Given the description of an element on the screen output the (x, y) to click on. 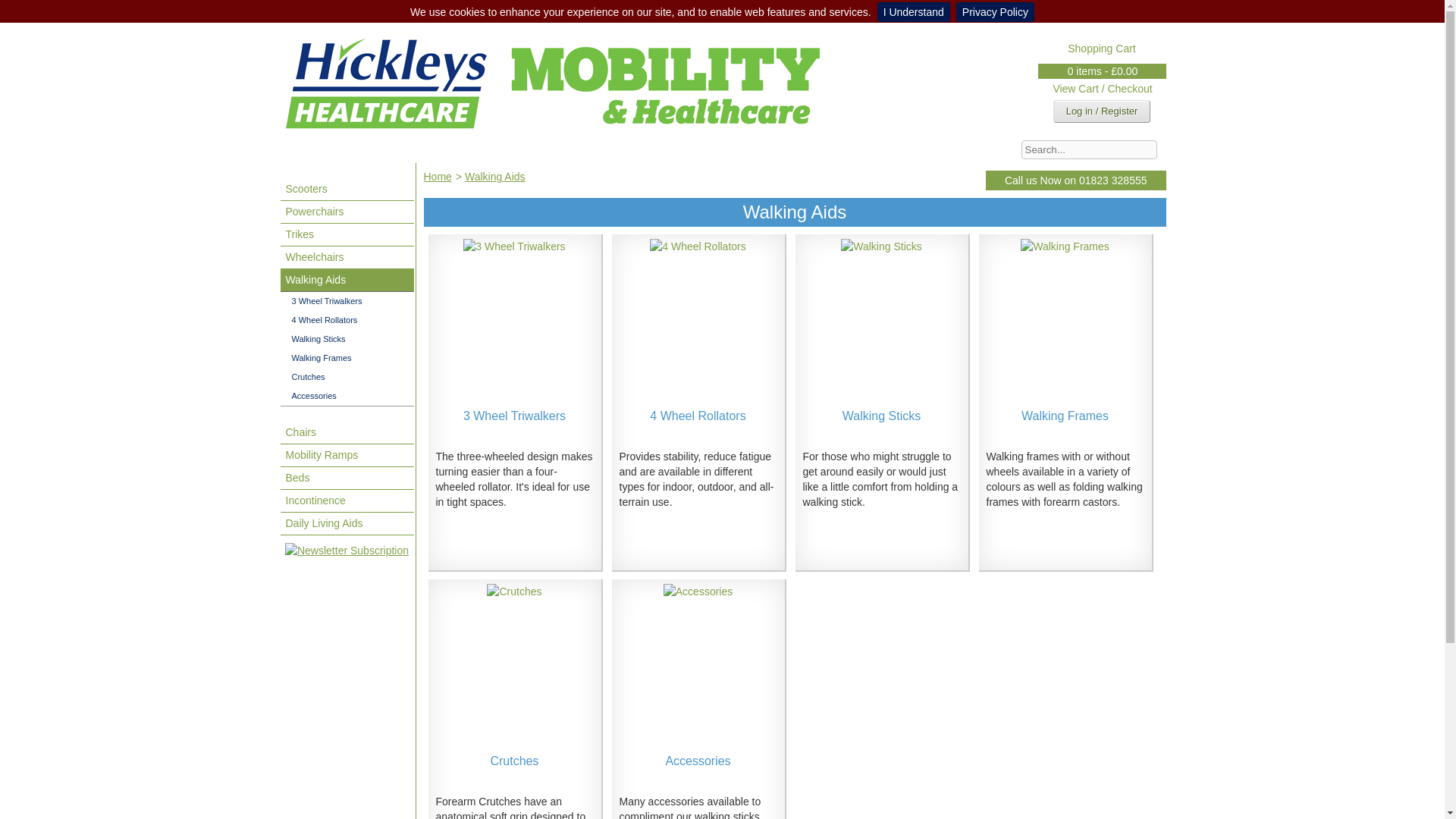
Accessories (347, 395)
Crutches (347, 376)
Scooters (347, 189)
Walking Aids (347, 280)
Trikes (347, 234)
Contact Us (368, 152)
3 Wheel Triwalkers (513, 246)
Delivery (648, 152)
Wheelchairs (347, 257)
